Given the description of an element on the screen output the (x, y) to click on. 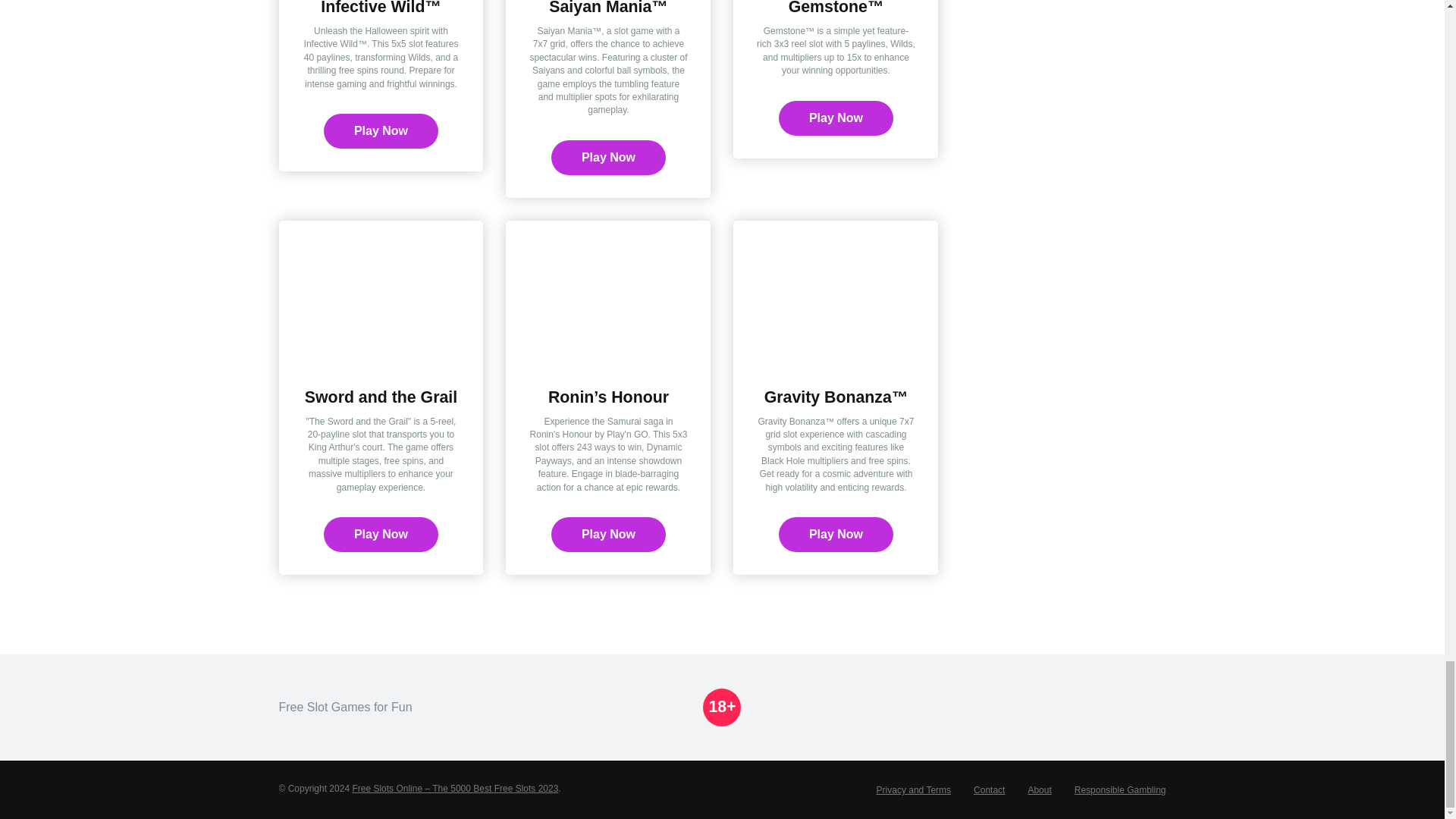
Sword and the Grail (380, 397)
Play Now (608, 534)
Play Now (380, 130)
Play Now (835, 117)
Sword and the Grail (381, 359)
Play Now (380, 534)
Play Now (608, 157)
Sword and the Grail (380, 397)
Play Now (835, 534)
Play Now (608, 157)
Play Now (380, 534)
Play Now (835, 117)
Play Now (608, 534)
Play Now (380, 130)
